Given the description of an element on the screen output the (x, y) to click on. 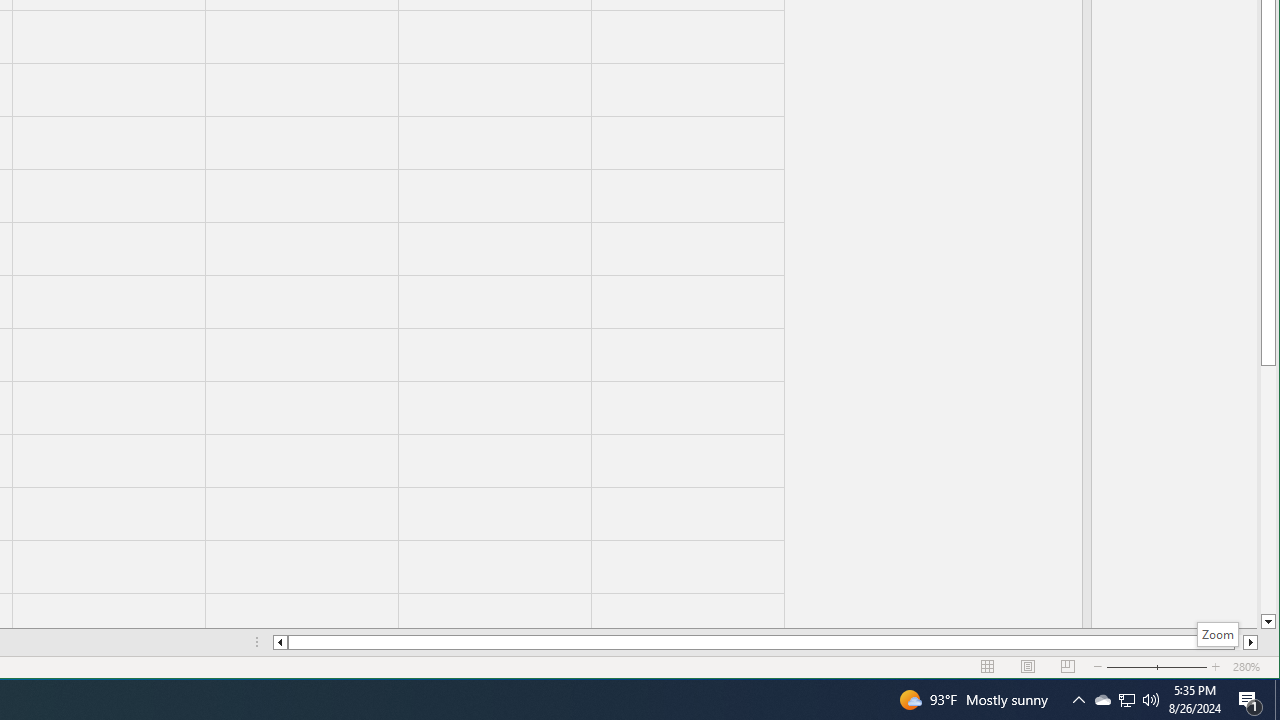
Notification Chevron (1078, 699)
Zoom (1157, 667)
Q2790: 100% (1151, 699)
Show desktop (1277, 699)
Action Center, 1 new notification (1250, 699)
Zoom Out (1144, 667)
Normal (987, 667)
Column right (1250, 642)
Zoom In (1215, 667)
Page down (1126, 699)
Page right (1268, 489)
